Given the description of an element on the screen output the (x, y) to click on. 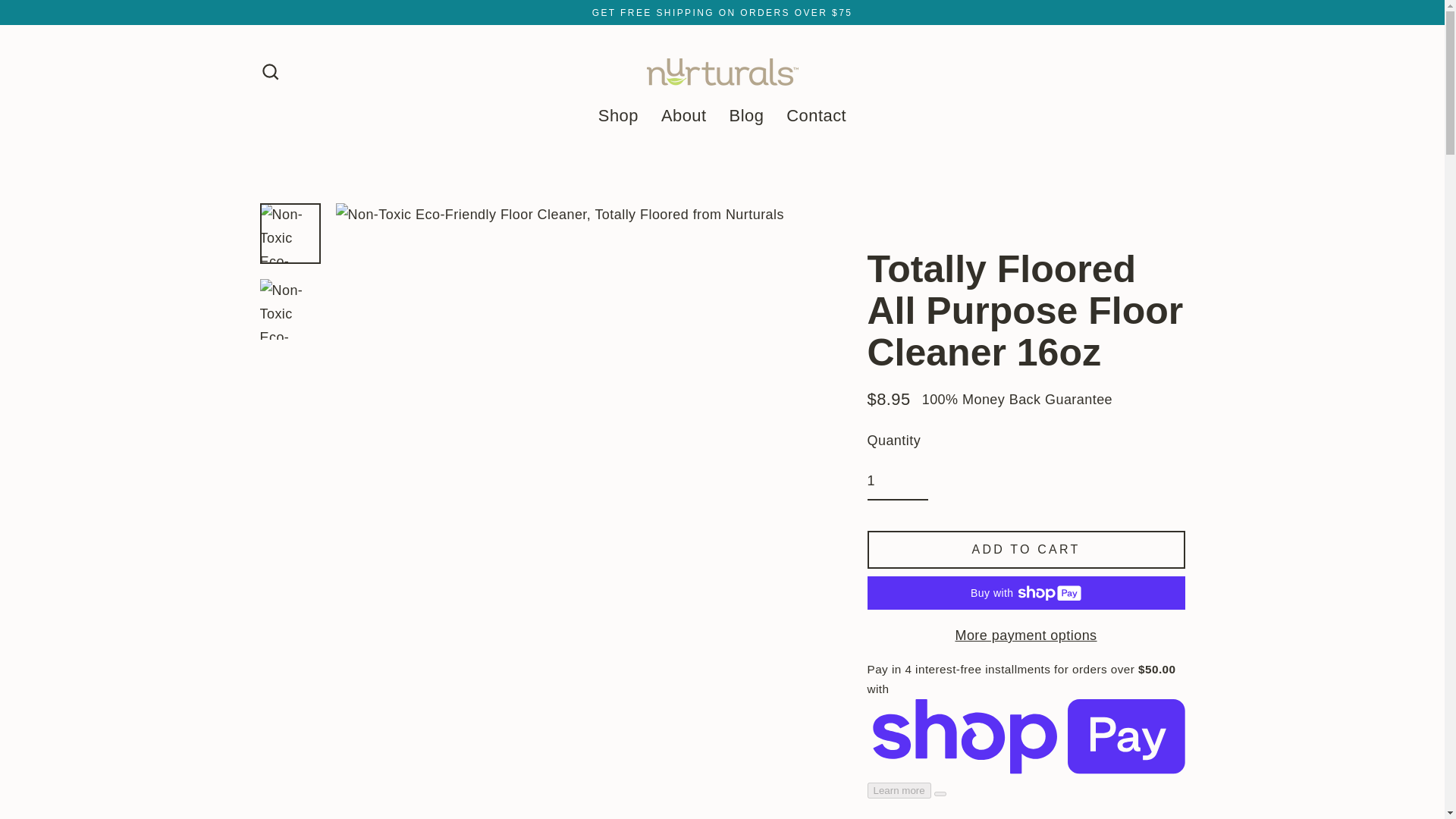
Contact (815, 115)
1 (897, 481)
Search (269, 71)
About (683, 115)
More payment options (1026, 635)
Shop (617, 115)
Blog (746, 115)
ADD TO CART (1026, 549)
